Given the description of an element on the screen output the (x, y) to click on. 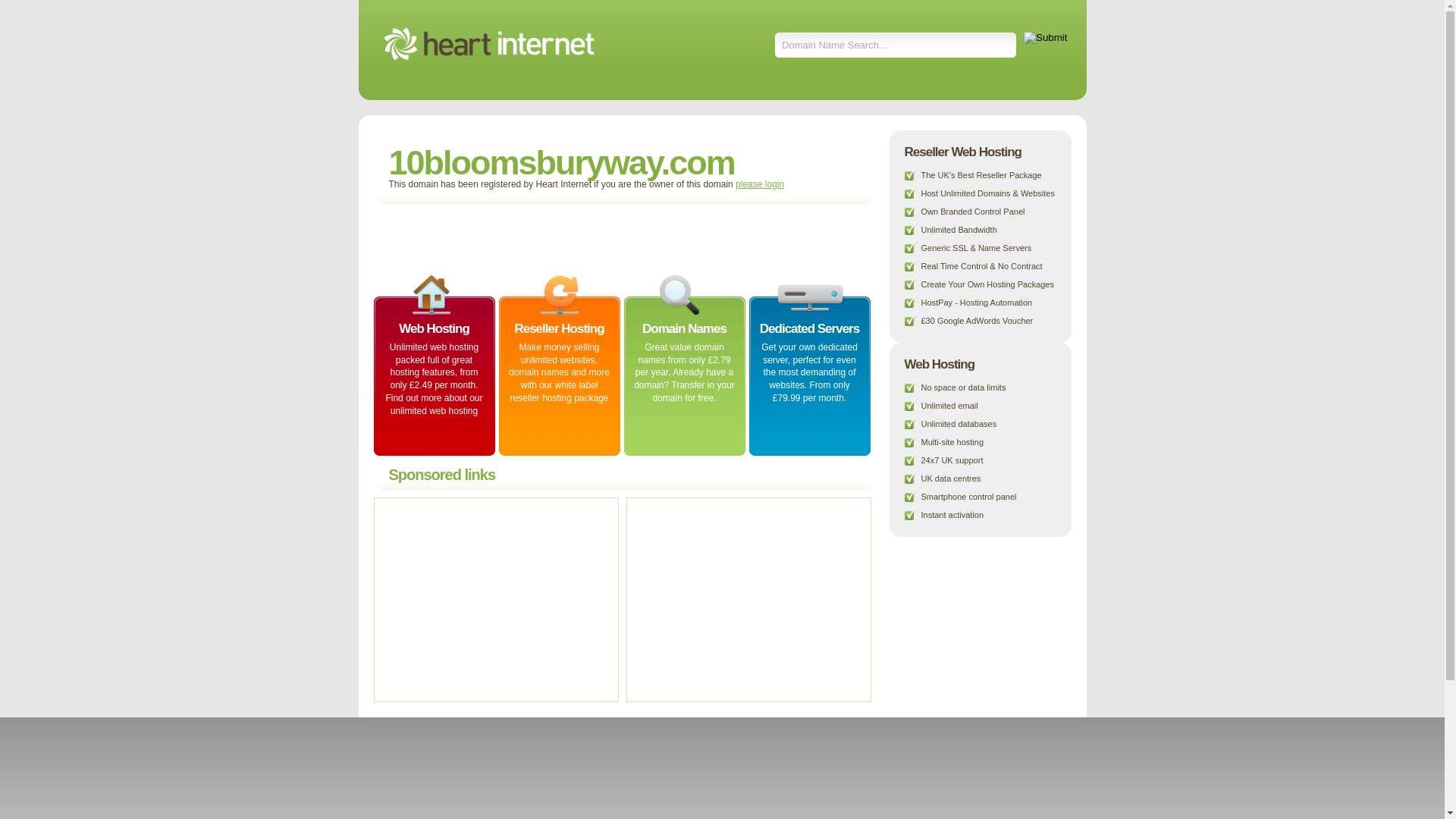
please login Element type: text (759, 183)
Advertisement Element type: hover (494, 598)
Advertisement Element type: hover (745, 598)
Domain Name Search... Element type: text (895, 44)
Advertisement Element type: hover (557, 237)
